Given the description of an element on the screen output the (x, y) to click on. 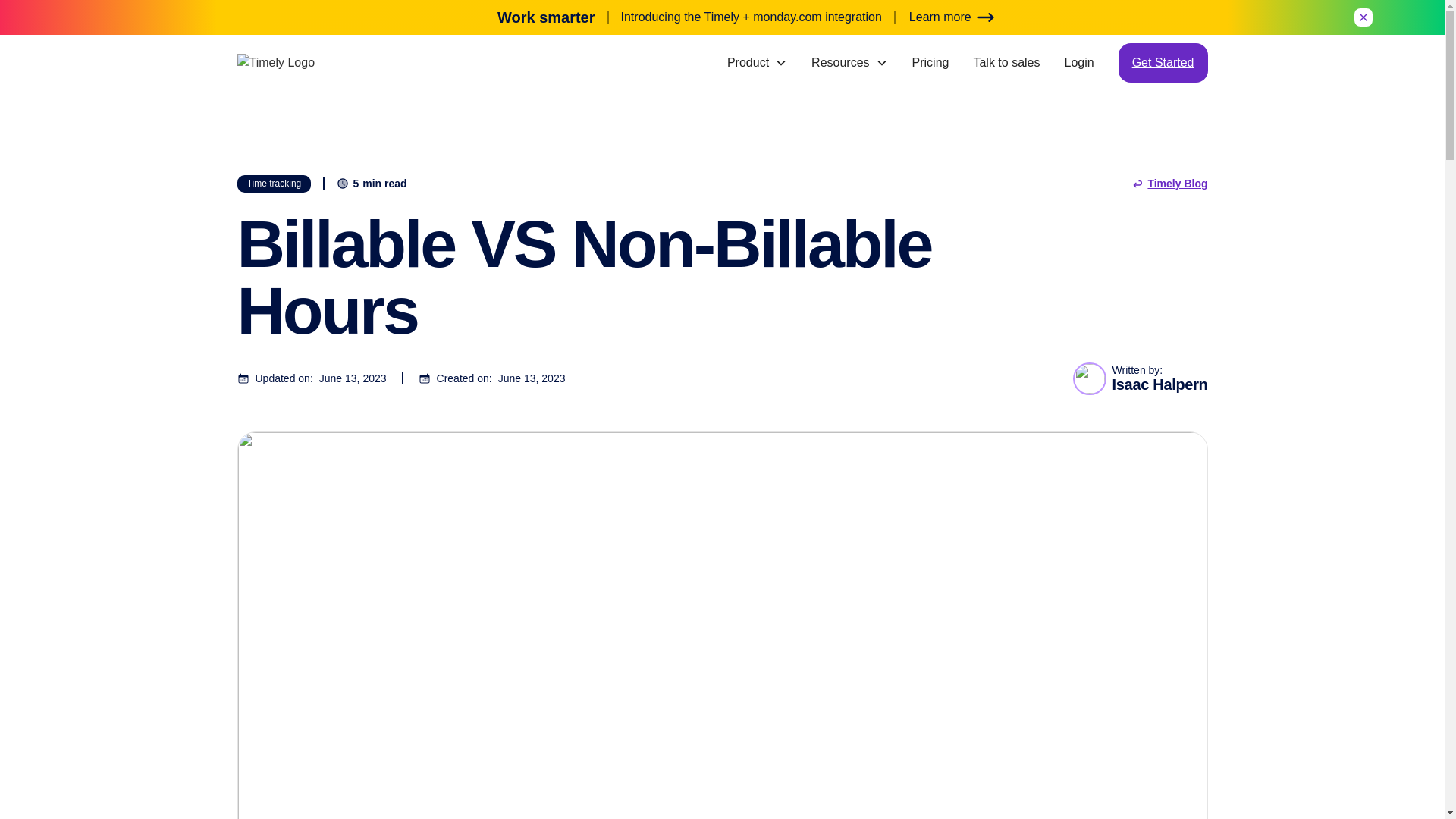
Learn more (951, 17)
